Given the description of an element on the screen output the (x, y) to click on. 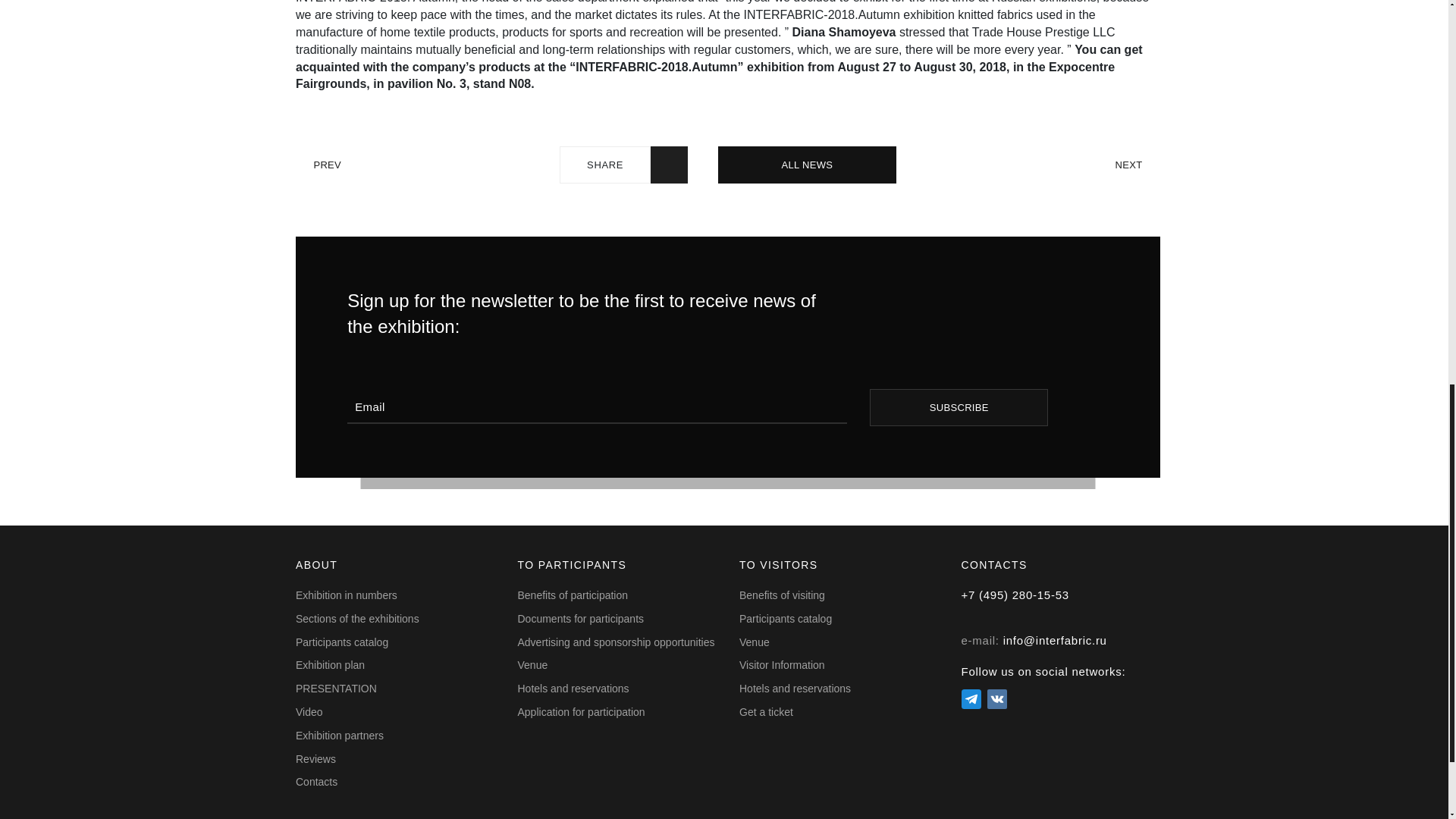
Enter your e-mail (597, 406)
Telegram (970, 699)
Vk (997, 699)
